Given the description of an element on the screen output the (x, y) to click on. 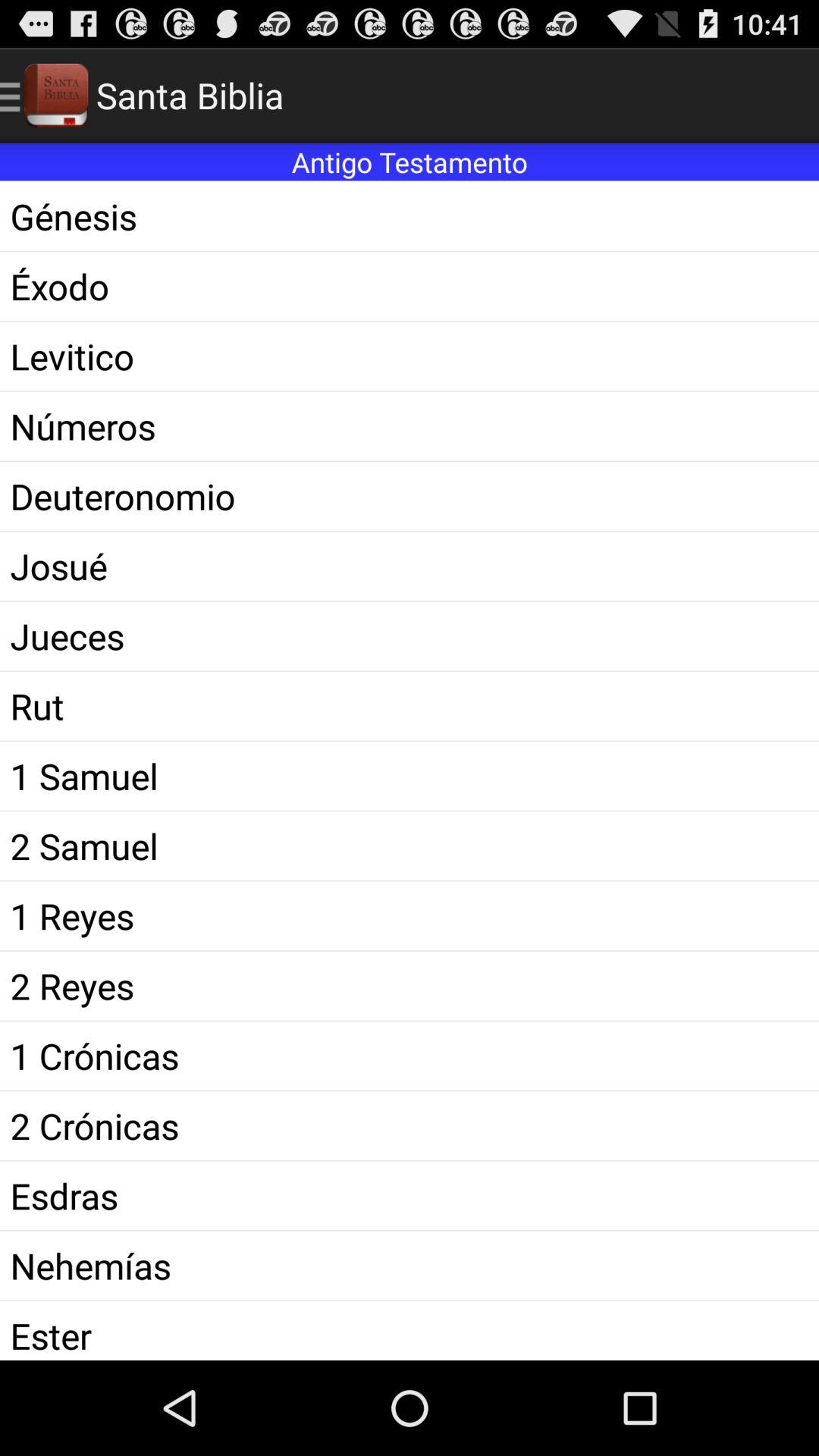
press the deuteronomio item (409, 495)
